Given the description of an element on the screen output the (x, y) to click on. 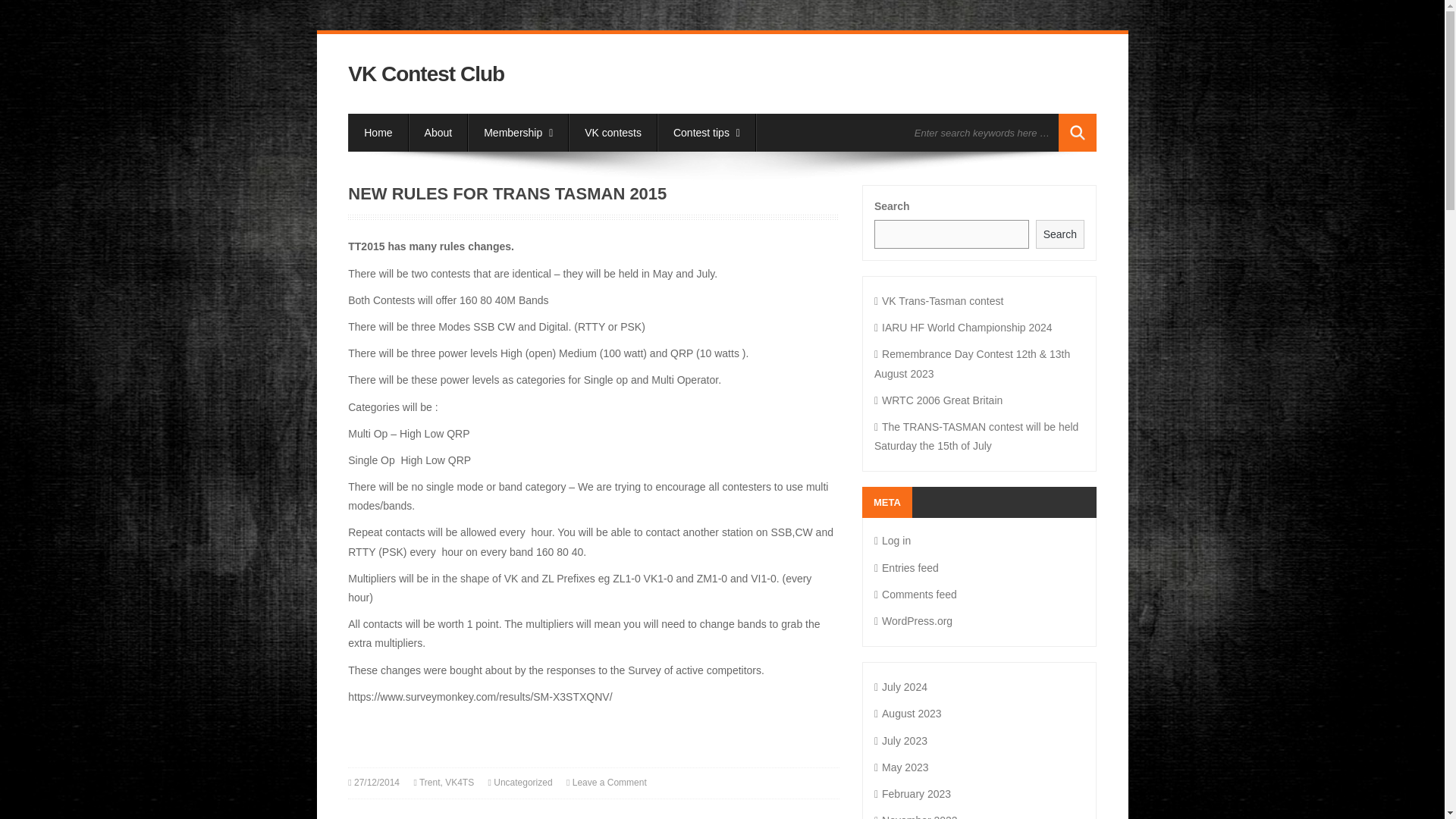
VK contests (613, 132)
November 2022 (916, 816)
Uncategorized (522, 782)
VK Trans-Tasman contest (939, 300)
WRTC 2006 Great Britain (939, 399)
WordPress.org (913, 621)
Contest tips (706, 132)
Comments feed (915, 594)
Membership (518, 132)
VK Contest Club (425, 73)
Leave a Comment (609, 782)
May 2023 (901, 767)
August 2023 (908, 713)
Entries feed (907, 567)
